Given the description of an element on the screen output the (x, y) to click on. 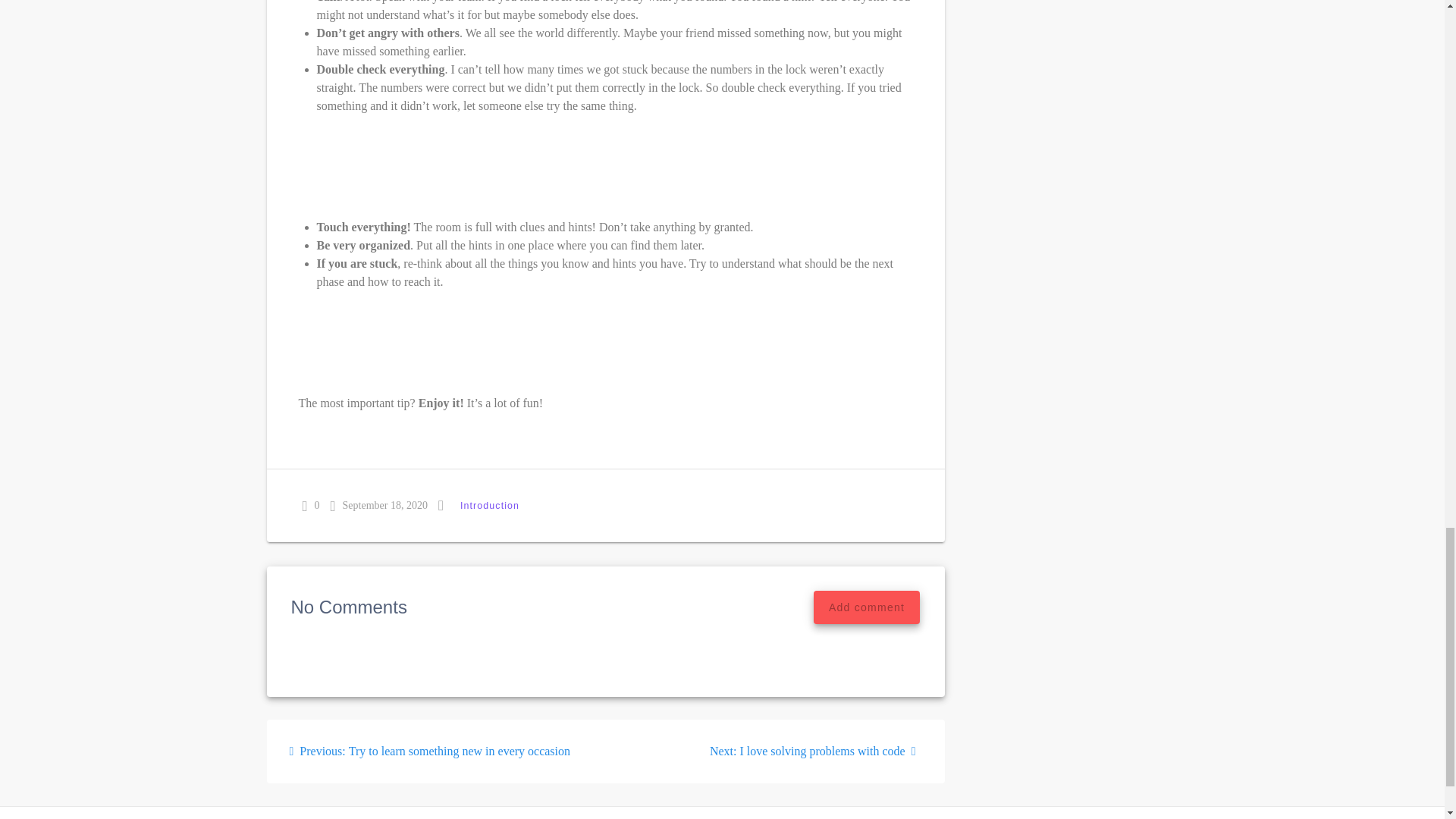
Add comment (815, 750)
Introduction (866, 607)
0 (489, 505)
September 18, 2020 (429, 750)
